Given the description of an element on the screen output the (x, y) to click on. 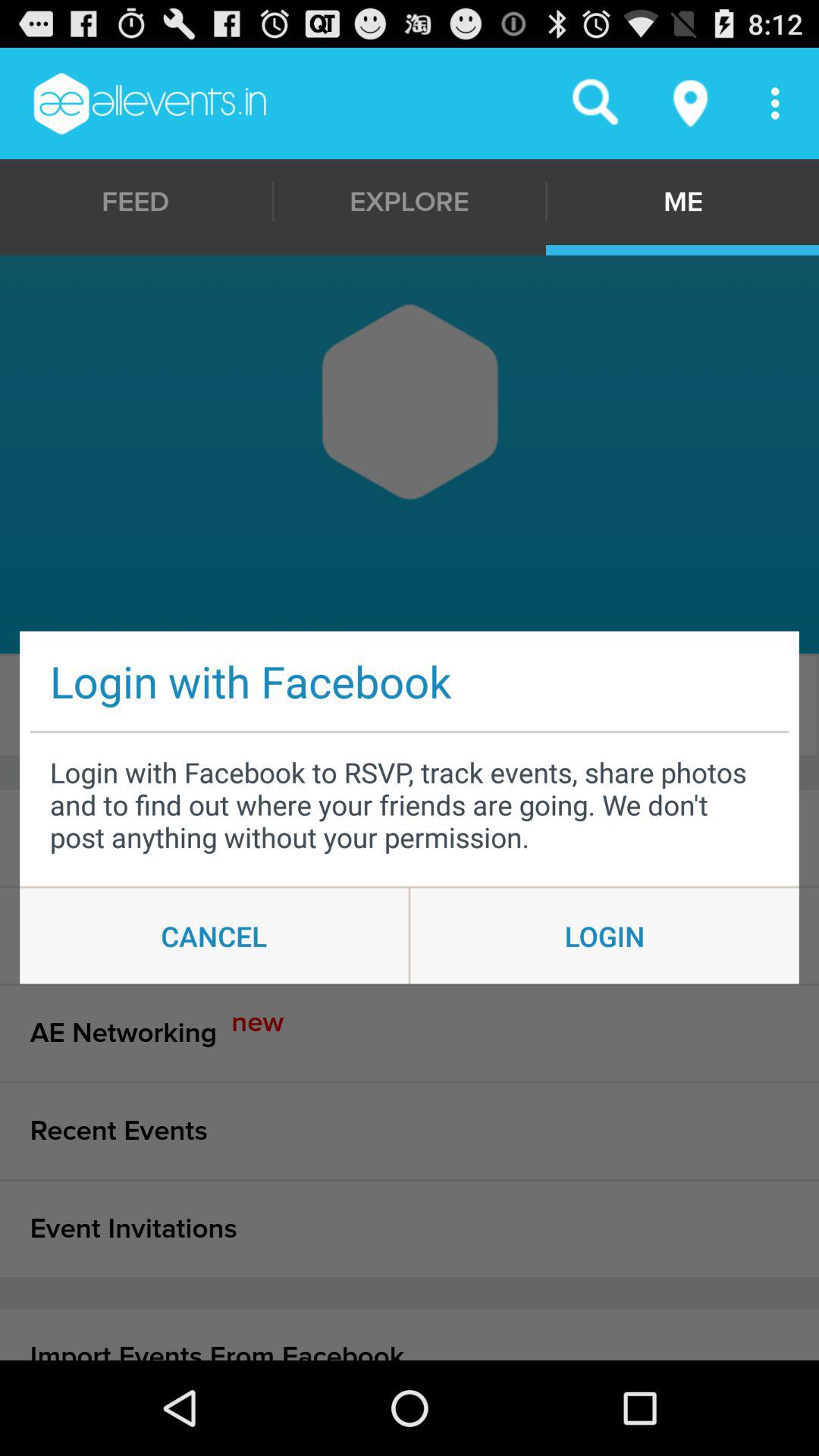
turn off the item next to events icon (406, 705)
